Given the description of an element on the screen output the (x, y) to click on. 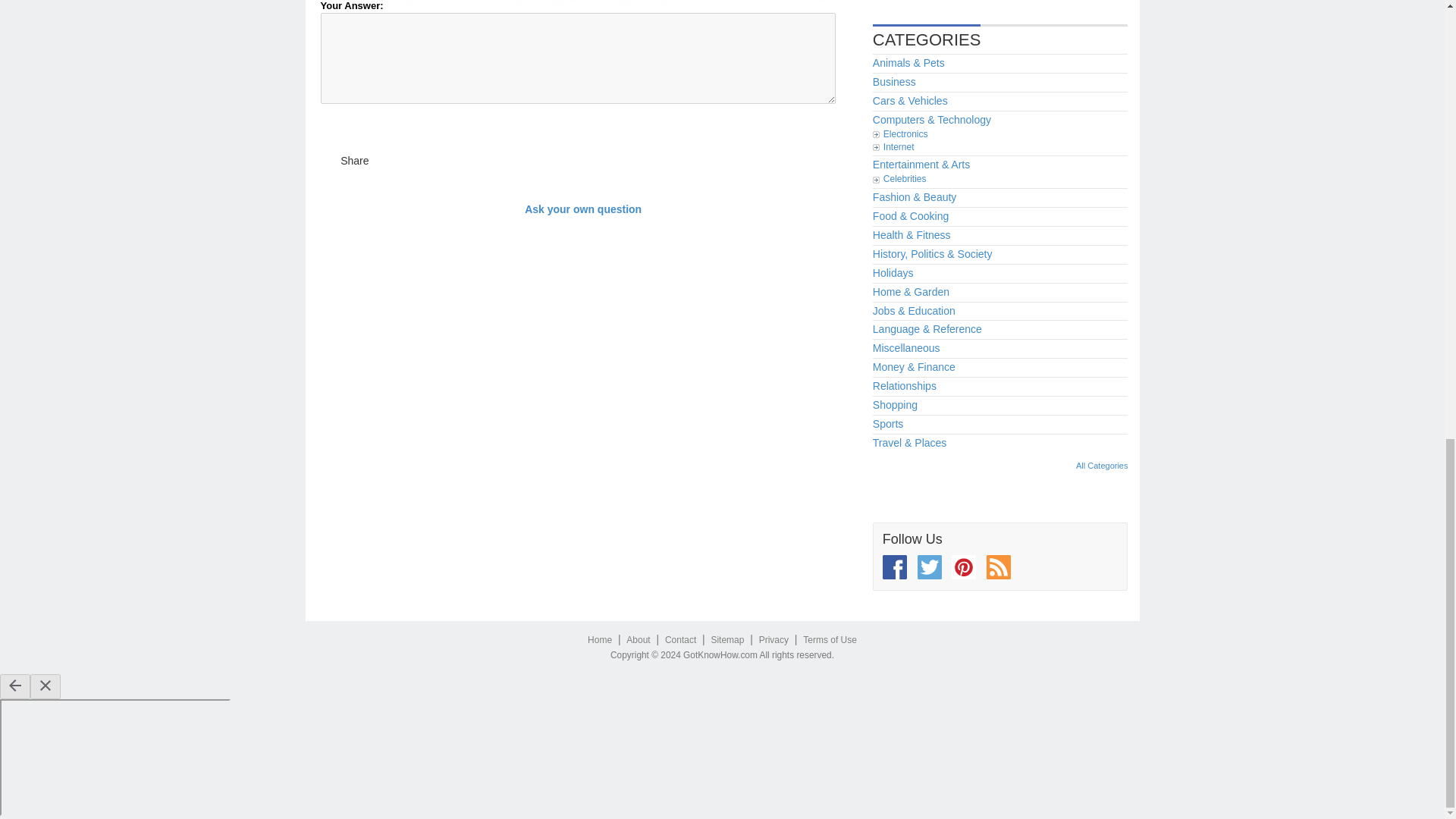
Advertisement (986, 2)
Facebook Page (894, 567)
